Given the description of an element on the screen output the (x, y) to click on. 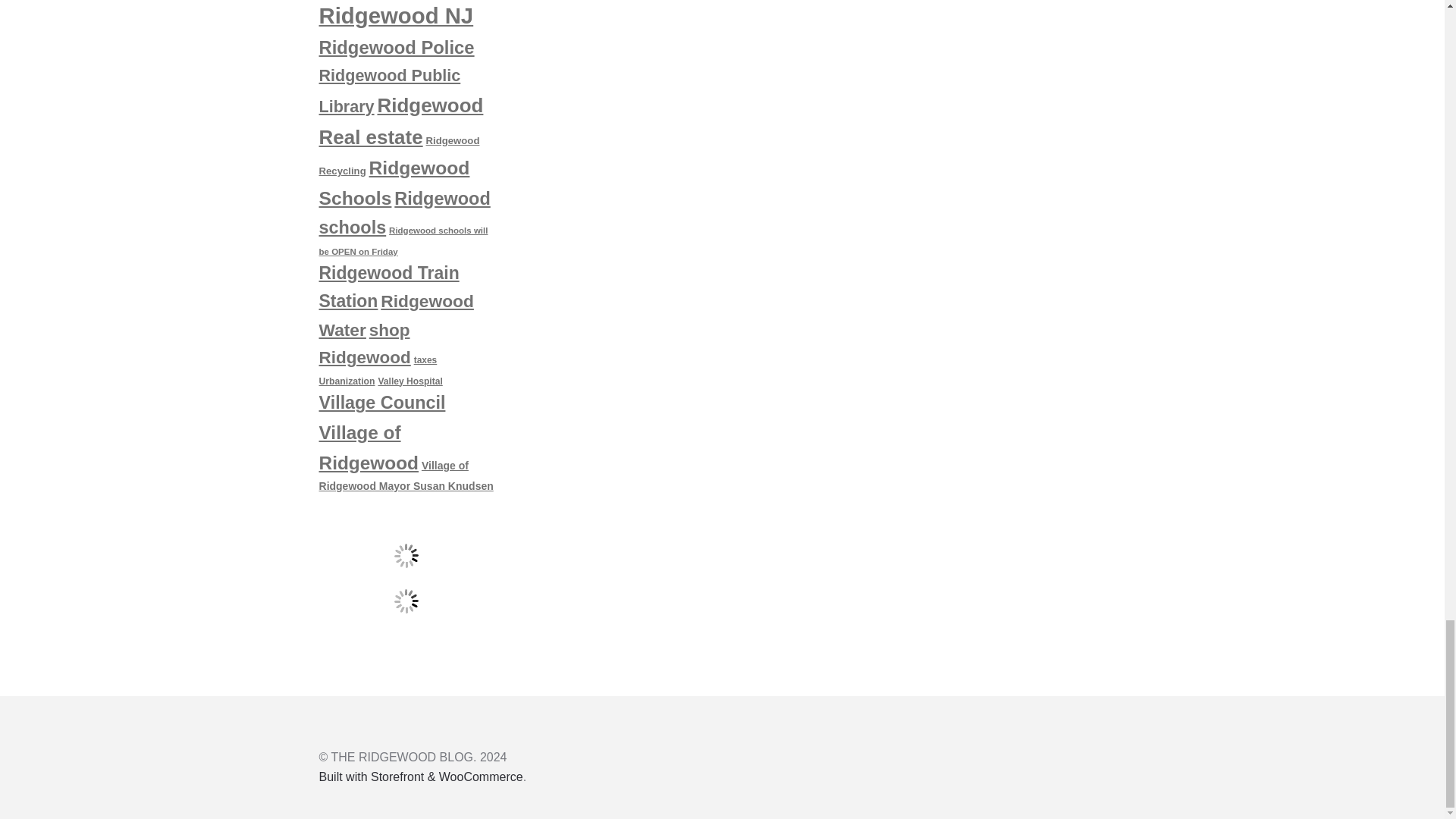
WooCommerce - The Best eCommerce Platform for WordPress (420, 776)
